Given the description of an element on the screen output the (x, y) to click on. 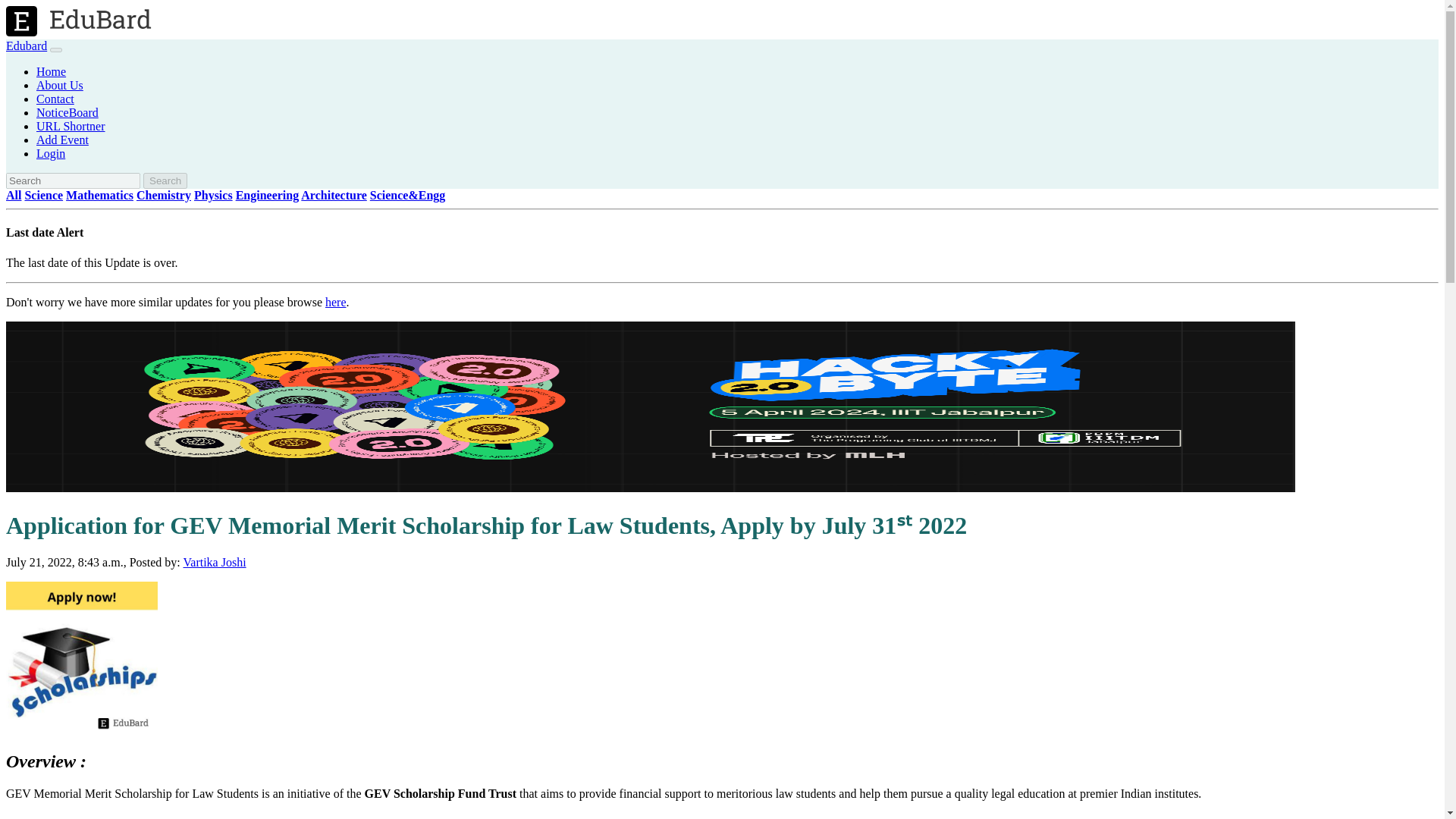
Contact (55, 98)
Engineering (267, 195)
Science (43, 195)
Mathematics (99, 195)
Edubard (25, 45)
Login (50, 153)
URL Shortner (70, 125)
Physics (212, 195)
NoticeBoard (67, 112)
Add Event (62, 139)
Vartika Joshi (214, 562)
About Us (59, 84)
here (335, 301)
Architecture (333, 195)
All (13, 195)
